Given the description of an element on the screen output the (x, y) to click on. 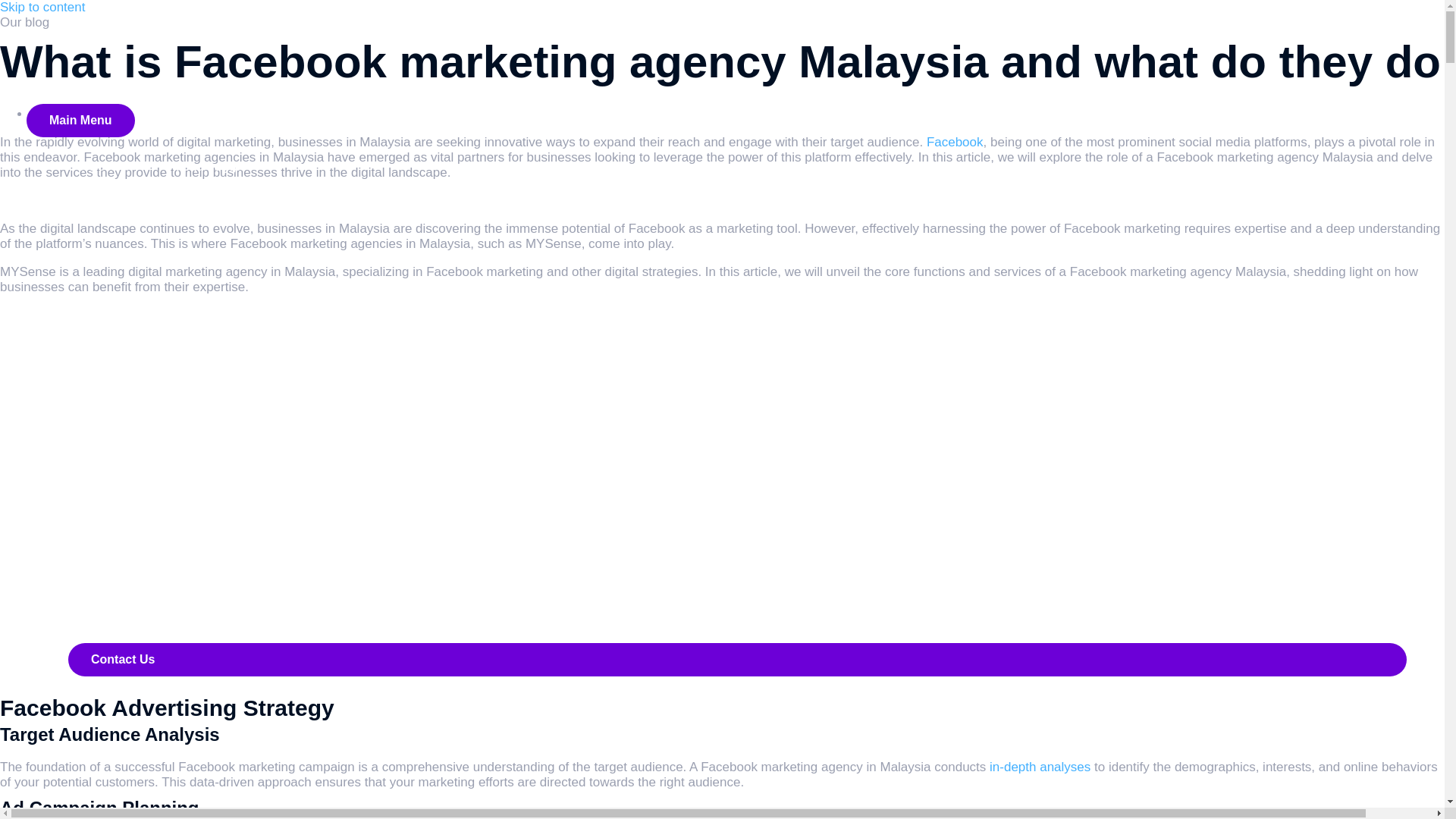
Contact Us (737, 659)
Career (87, 635)
Blog (80, 505)
Our Works (108, 530)
Skip to content (42, 7)
Menu Toggle (209, 166)
Services (102, 165)
Main Menu (80, 120)
Skip to content (42, 7)
About Us (94, 490)
Menu Toggle (221, 530)
